Given the description of an element on the screen output the (x, y) to click on. 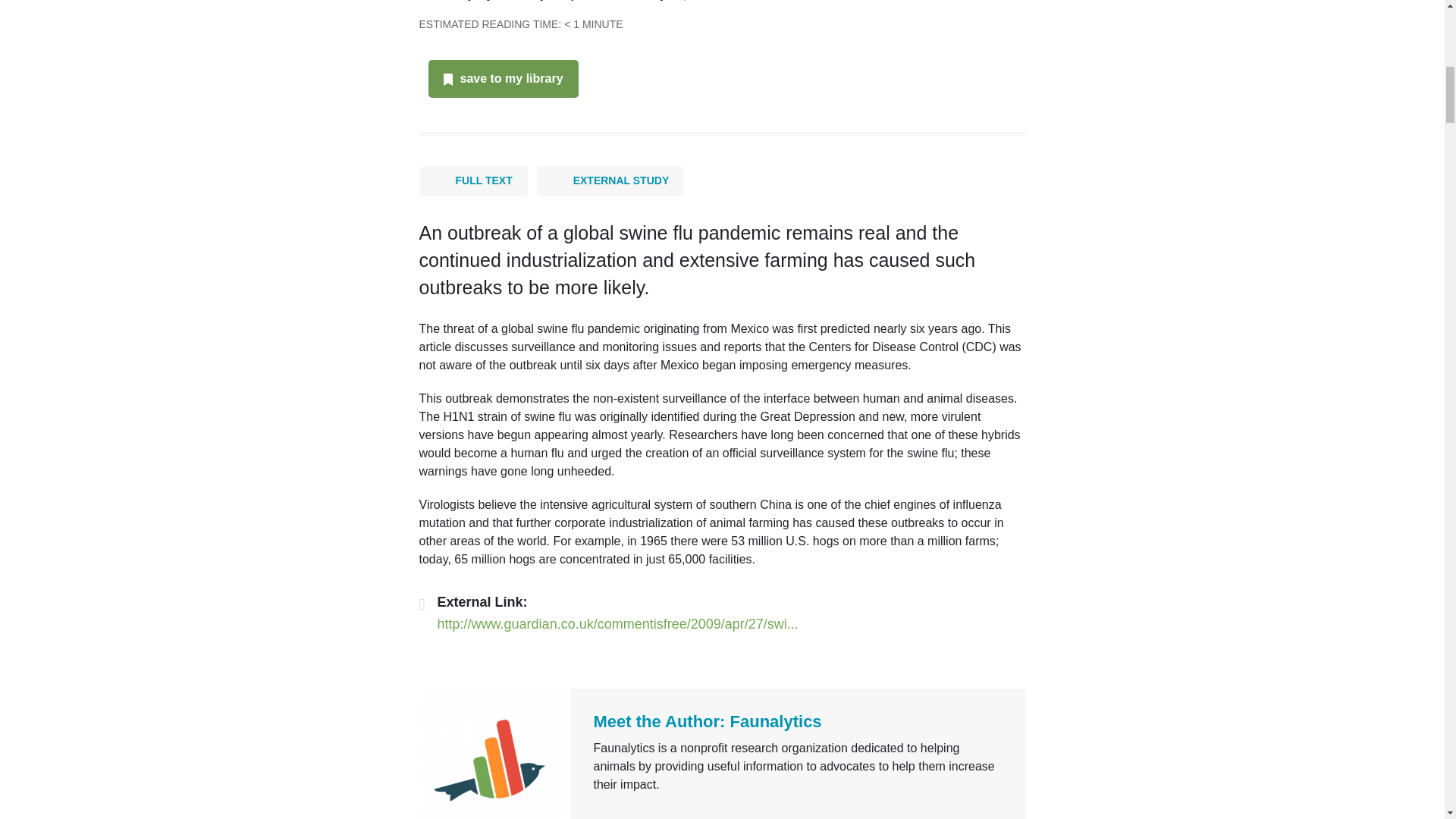
Posts by Faunalytics (533, 0)
Posts by Faunalytics (776, 721)
Save to My Library (511, 78)
